Given the description of an element on the screen output the (x, y) to click on. 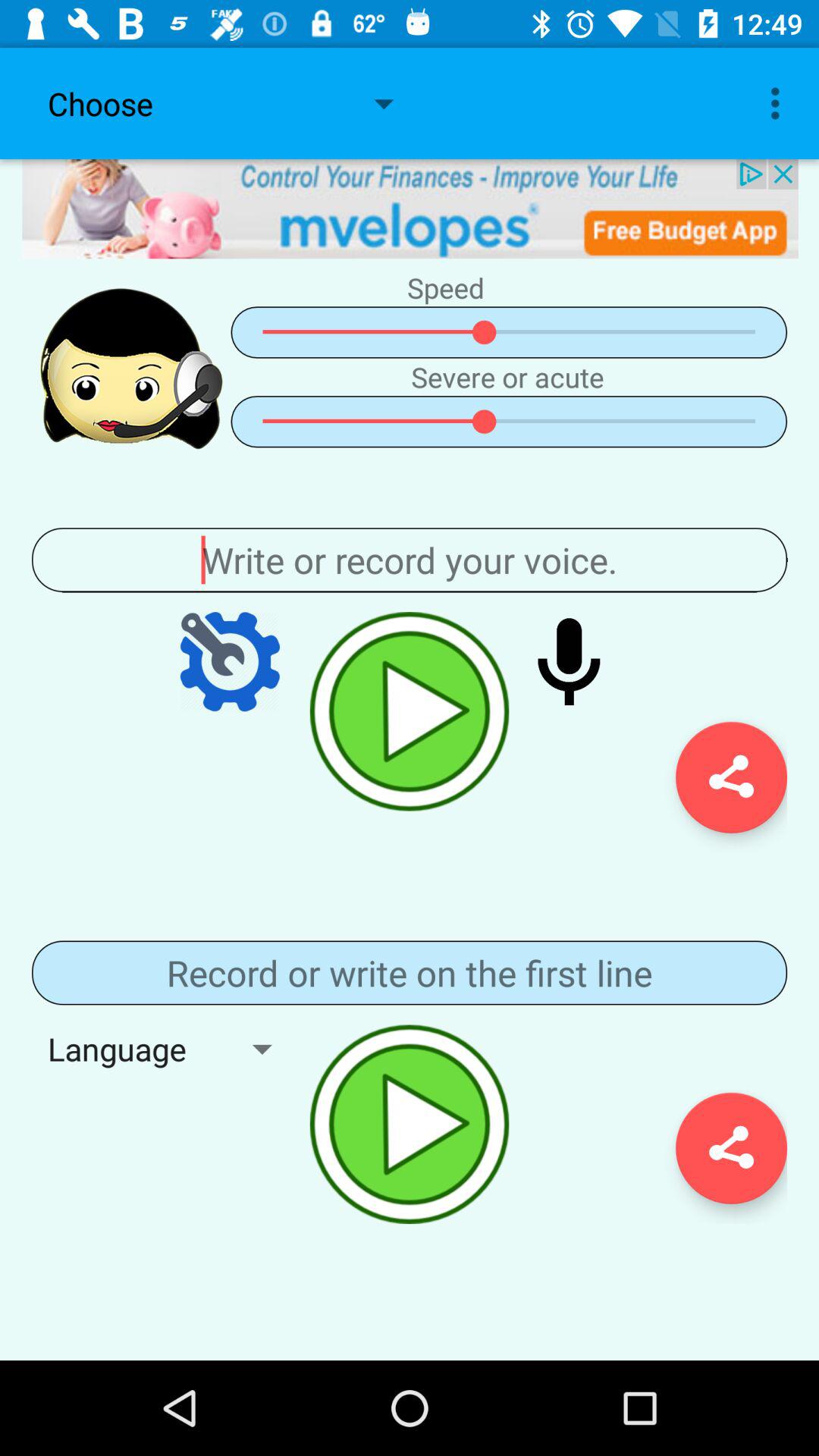
write a word (409, 559)
